Given the description of an element on the screen output the (x, y) to click on. 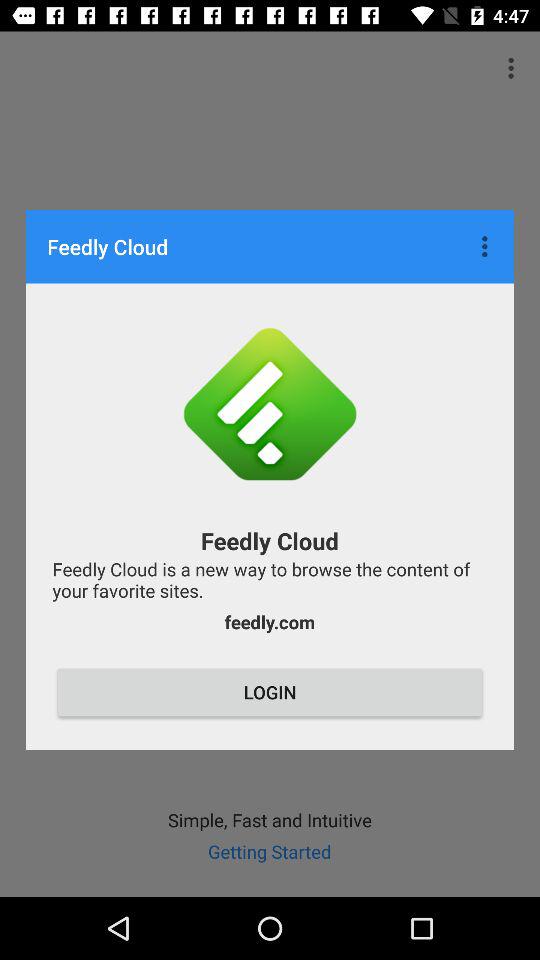
turn off icon below feedly.com item (269, 691)
